Given the description of an element on the screen output the (x, y) to click on. 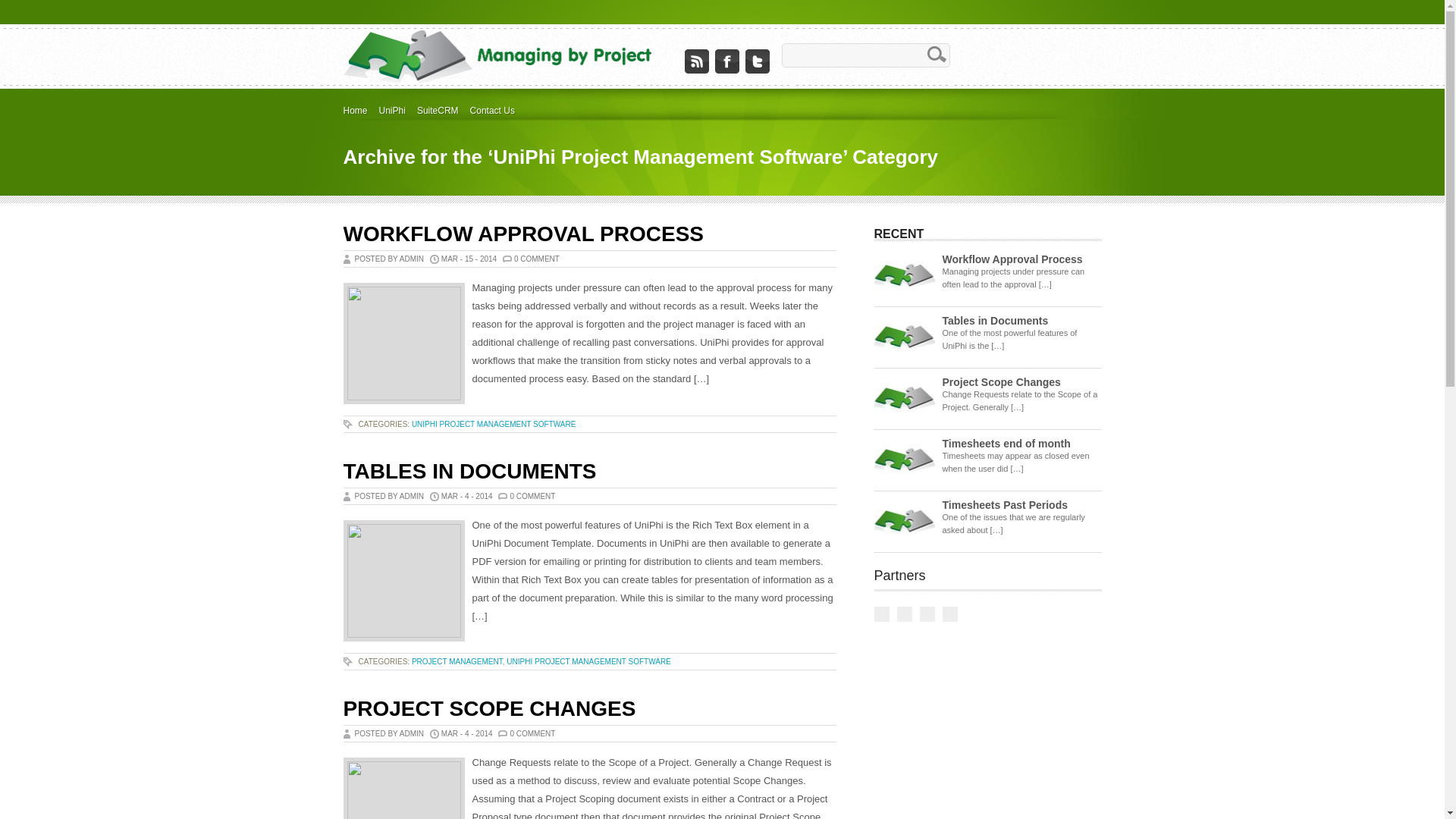
TABLES IN DOCUMENTS Element type: text (469, 471)
WORKFLOW APPROVAL PROCESS Element type: text (522, 233)
0 COMMENT Element type: text (536, 258)
SuiteCRM Element type: text (443, 110)
Facebook Element type: hover (726, 58)
0 COMMENT Element type: text (532, 496)
0 COMMENT Element type: text (532, 733)
UNIPHI PROJECT MANAGEMENT SOFTWARE Element type: text (493, 424)
UNIPHI PROJECT MANAGEMENT SOFTWARE Element type: text (588, 661)
PROJECT SCOPE CHANGES Element type: text (488, 708)
Home Element type: text (360, 110)
Managing by Project Element type: hover (496, 54)
Timesheets end of month Element type: text (1005, 443)
Timesheets Past Periods Element type: text (1003, 504)
Twitter Element type: hover (756, 58)
UniPhi Element type: text (398, 110)
Workflow Approval Process Element type: text (1011, 259)
subscribe Element type: hover (696, 58)
Contact Us Element type: text (498, 110)
PROJECT MANAGEMENT Element type: text (456, 661)
Tables in Documents Element type: text (994, 320)
RECENT Element type: text (911, 233)
Project Scope Changes Element type: text (1000, 382)
